Given the description of an element on the screen output the (x, y) to click on. 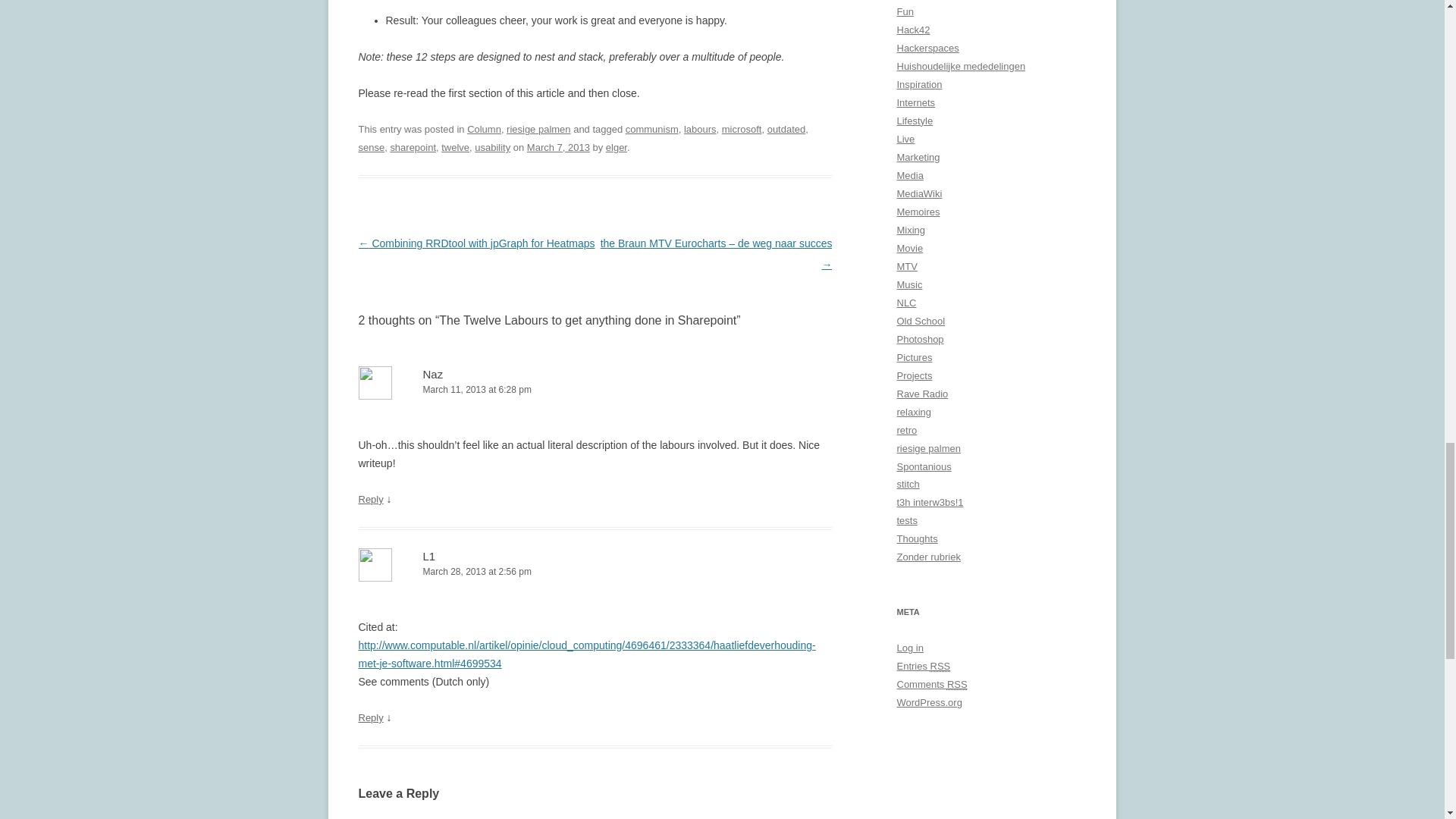
Really Simple Syndication (940, 665)
riesige palmen (538, 129)
communism (652, 129)
Reply (370, 499)
Column (483, 129)
sense (371, 147)
twelve (454, 147)
Really Simple Syndication (957, 684)
usability (492, 147)
